Given the description of an element on the screen output the (x, y) to click on. 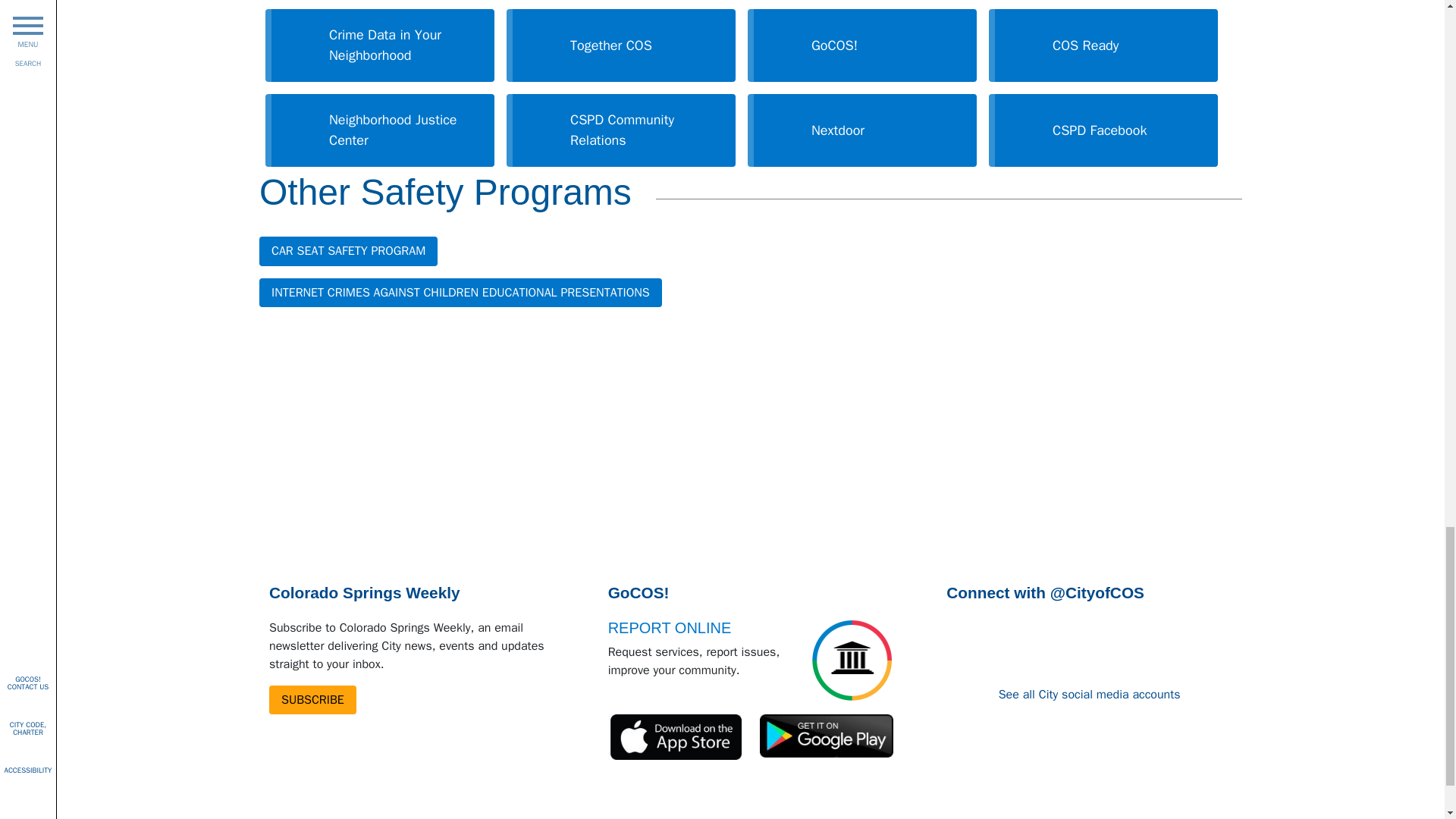
COS Ready (1103, 45)
Crime Data in Your Neighborhood (379, 45)
CSPD Community Relations (620, 129)
CSPD Facebook (1103, 129)
Neighborhood Justice Center (379, 129)
SUBSCRIBE (312, 699)
GoCOS! (861, 45)
Nextdoor (861, 129)
INTERNET CRIMES AGAINST CHILDREN EDUCATIONAL PRESENTATIONS (460, 292)
CAR SEAT SAFETY PROGRAM (348, 250)
Together COS (620, 45)
